Given the description of an element on the screen output the (x, y) to click on. 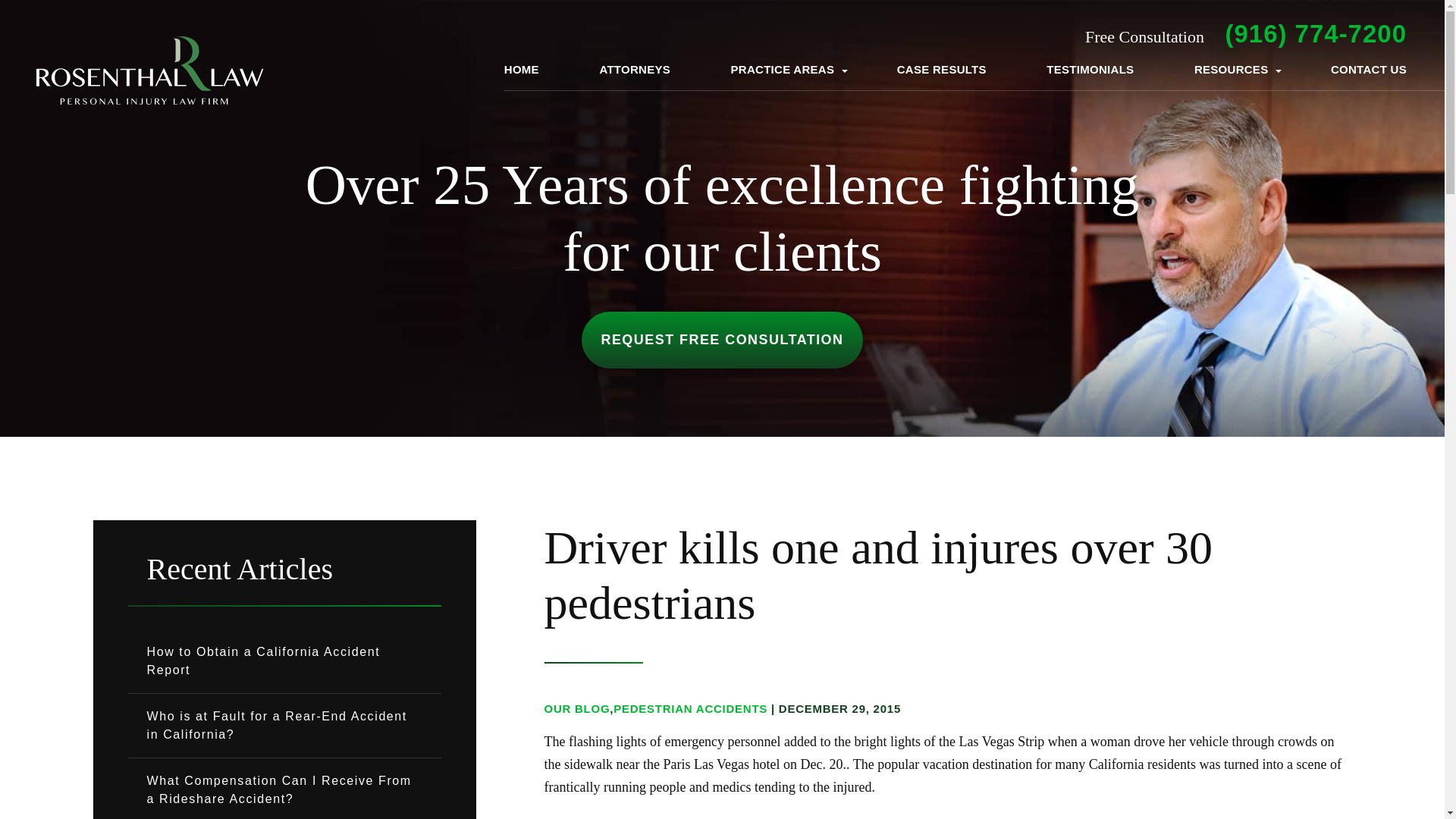
ATTORNEYS (633, 69)
REQUEST FREE CONSULTATION (720, 340)
Free Consultation (1315, 33)
What Compensation Can I Receive From a Rideshare Accident? (284, 788)
How to Obtain a California Accident Report (284, 660)
PEDESTRIAN ACCIDENTS (689, 707)
CASE RESULTS (941, 69)
CONTACT US (1368, 69)
RESOURCES (1232, 69)
Who is at Fault for a Rear-End Accident in California? (284, 725)
OUR BLOG (577, 707)
Rosenthal Injury Law (149, 70)
PRACTICE AREAS (783, 69)
TESTIMONIALS (1090, 69)
